Given the description of an element on the screen output the (x, y) to click on. 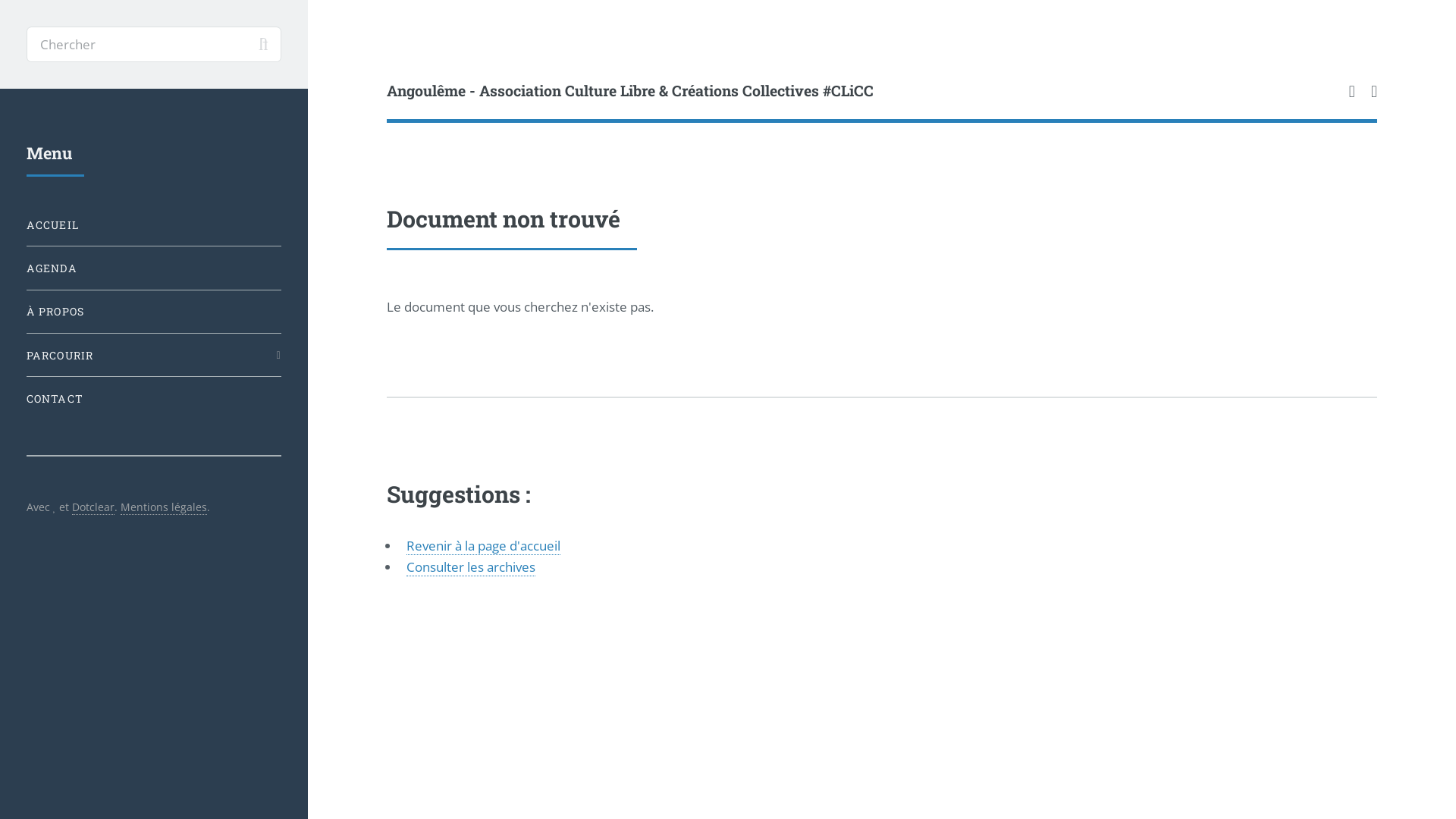
Search for: Element type: hover (153, 44)
Dotclear Element type: text (93, 506)
CONTACT Element type: text (153, 398)
Flux RSS Element type: hover (1352, 91)
Consulter les archives Element type: text (470, 566)
AGENDA Element type: text (153, 267)
ACCUEIL Element type: text (153, 224)
